Given the description of an element on the screen output the (x, y) to click on. 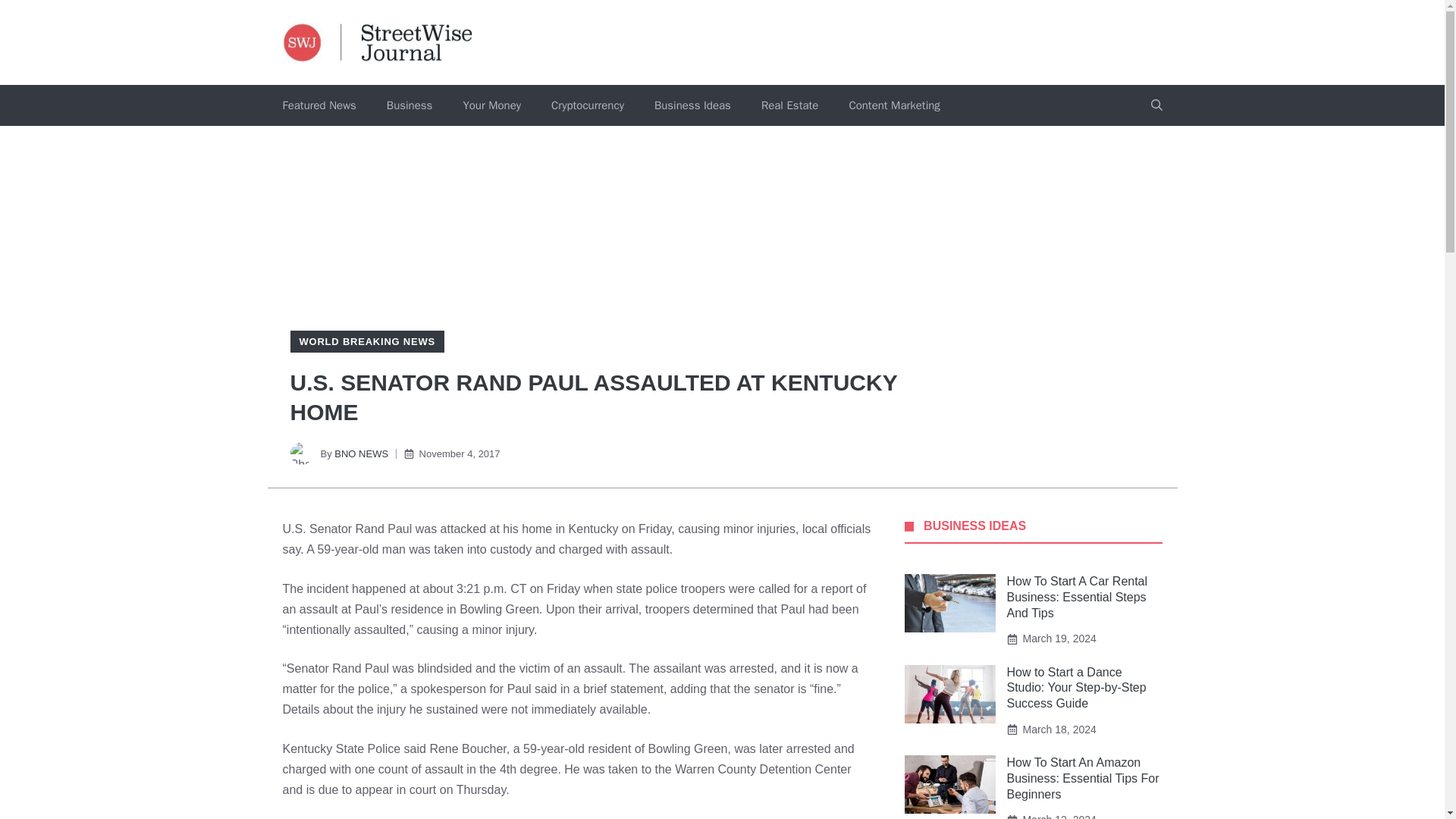
Business Ideas (692, 105)
Business (409, 105)
Content Marketing (893, 105)
Featured News (318, 105)
Cryptocurrency (587, 105)
BNO NEWS (361, 453)
How to Start a Dance Studio: Your Step-by-Step Success Guide (1077, 687)
Real Estate (788, 105)
Your Money (490, 105)
